Given the description of an element on the screen output the (x, y) to click on. 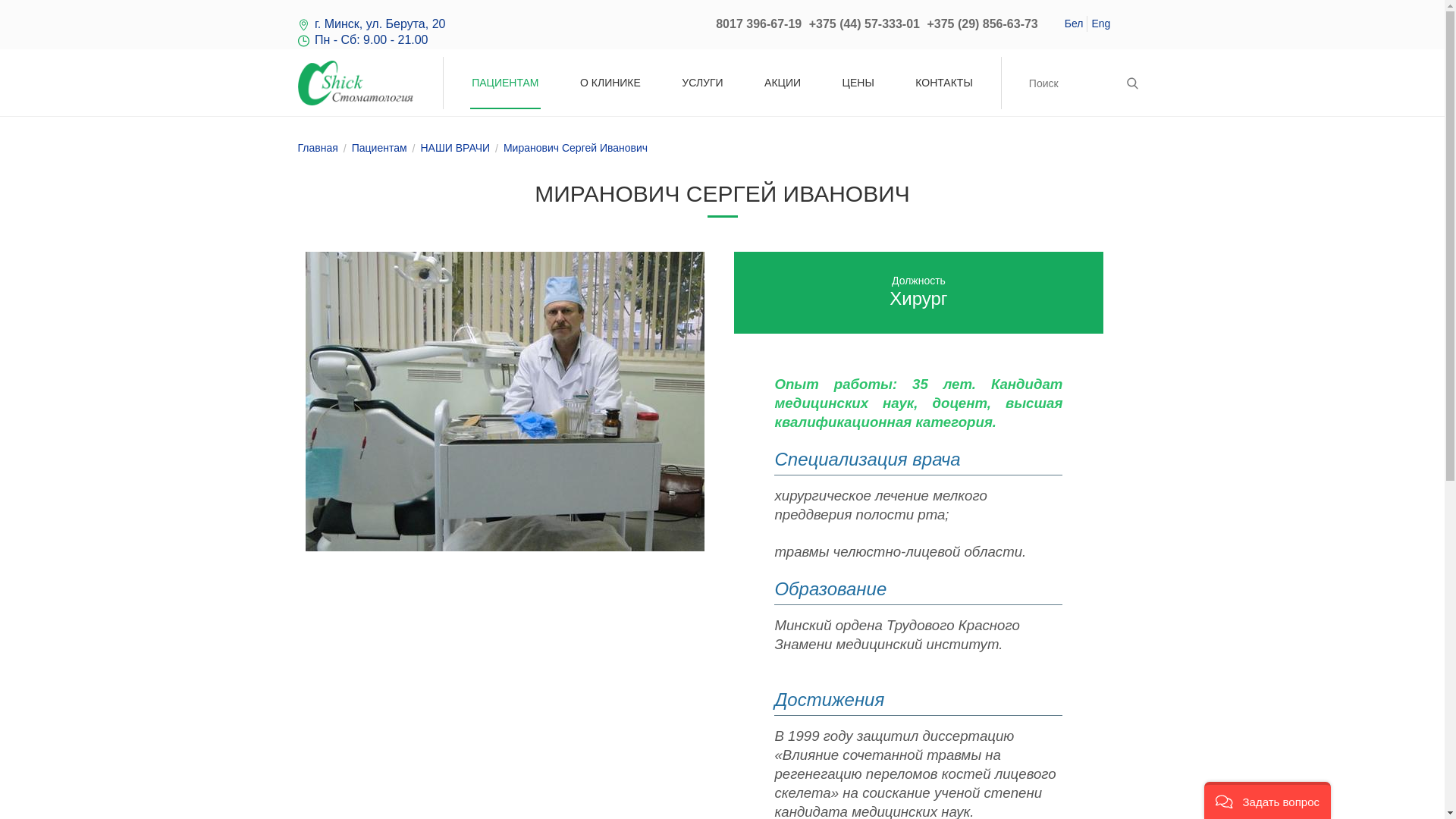
+375 (44) 57-333-01 Element type: text (864, 23)
Eng Element type: text (1100, 23)
8017 396-67-19 Element type: text (758, 23)
+375 (29) 856-63-73 Element type: text (981, 23)
